Given the description of an element on the screen output the (x, y) to click on. 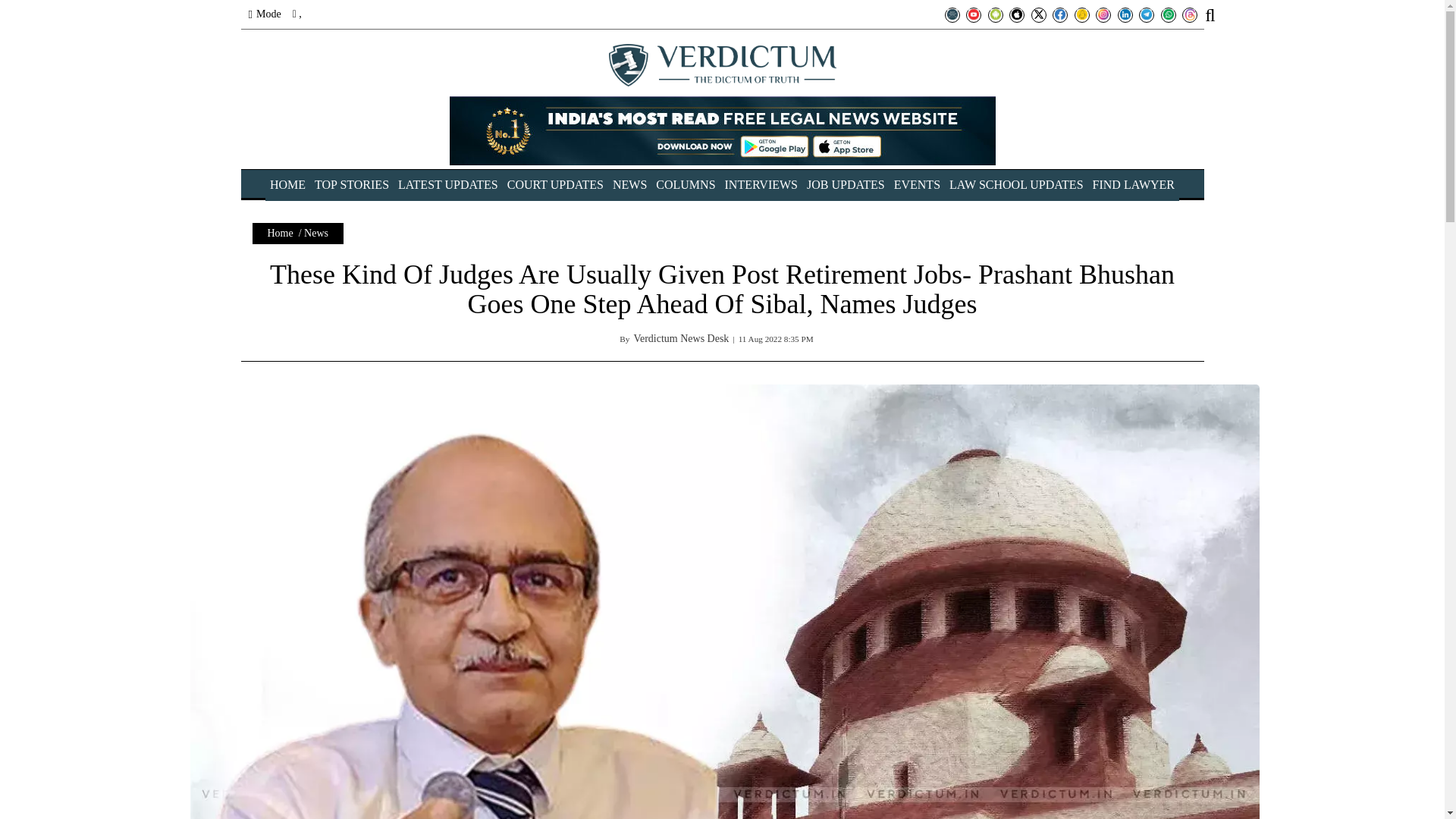
LATEST UPDATES (447, 184)
COURT UPDATES (555, 184)
HOME (287, 184)
Mode (264, 14)
NEWS (629, 184)
JOB UPDATES (845, 184)
Verdictum (721, 65)
TOP STORIES (351, 184)
INTERVIEWS (761, 184)
COLUMNS (685, 184)
